Given the description of an element on the screen output the (x, y) to click on. 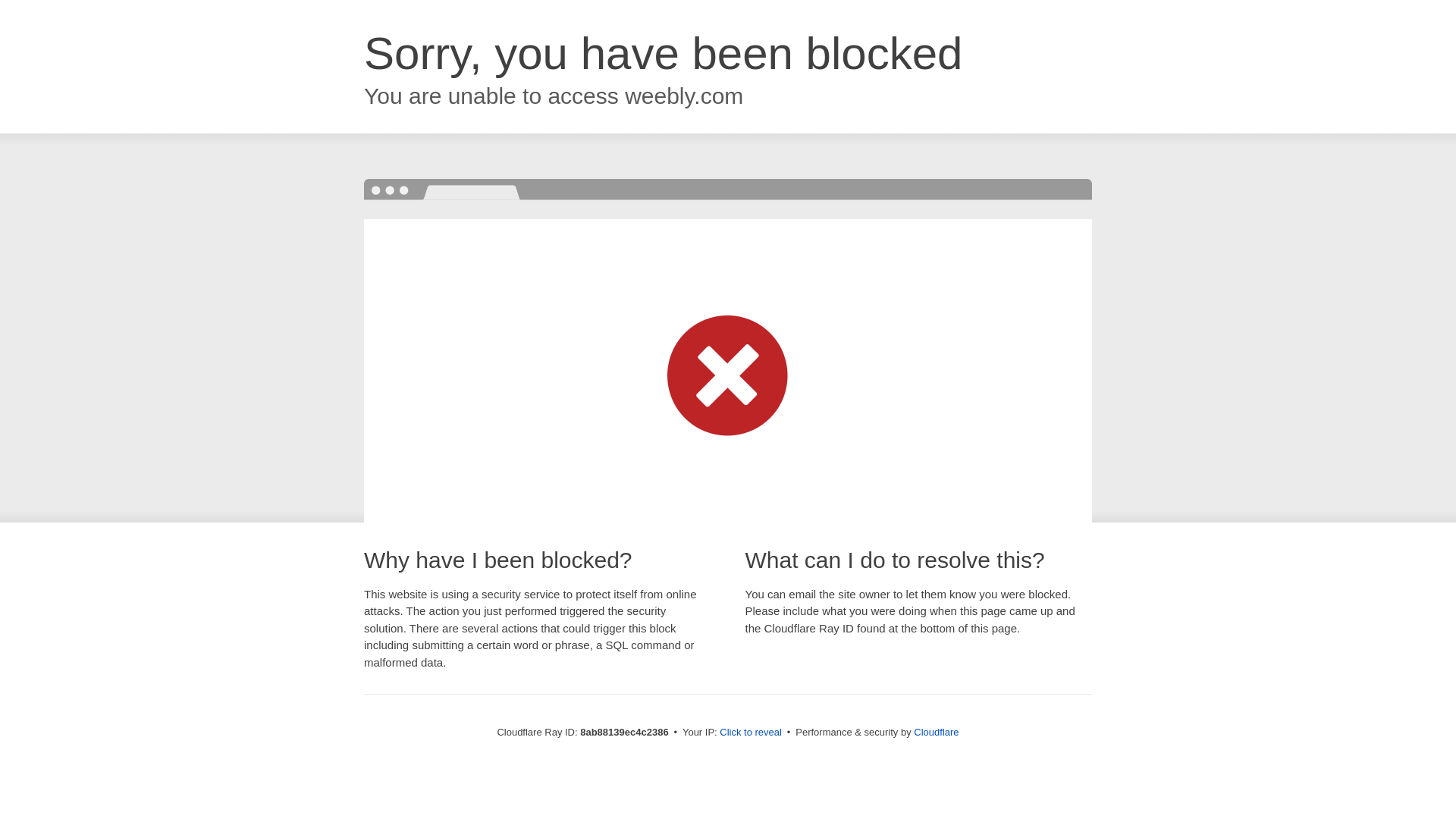
Cloudflare (936, 731)
Click to reveal (750, 732)
